Given the description of an element on the screen output the (x, y) to click on. 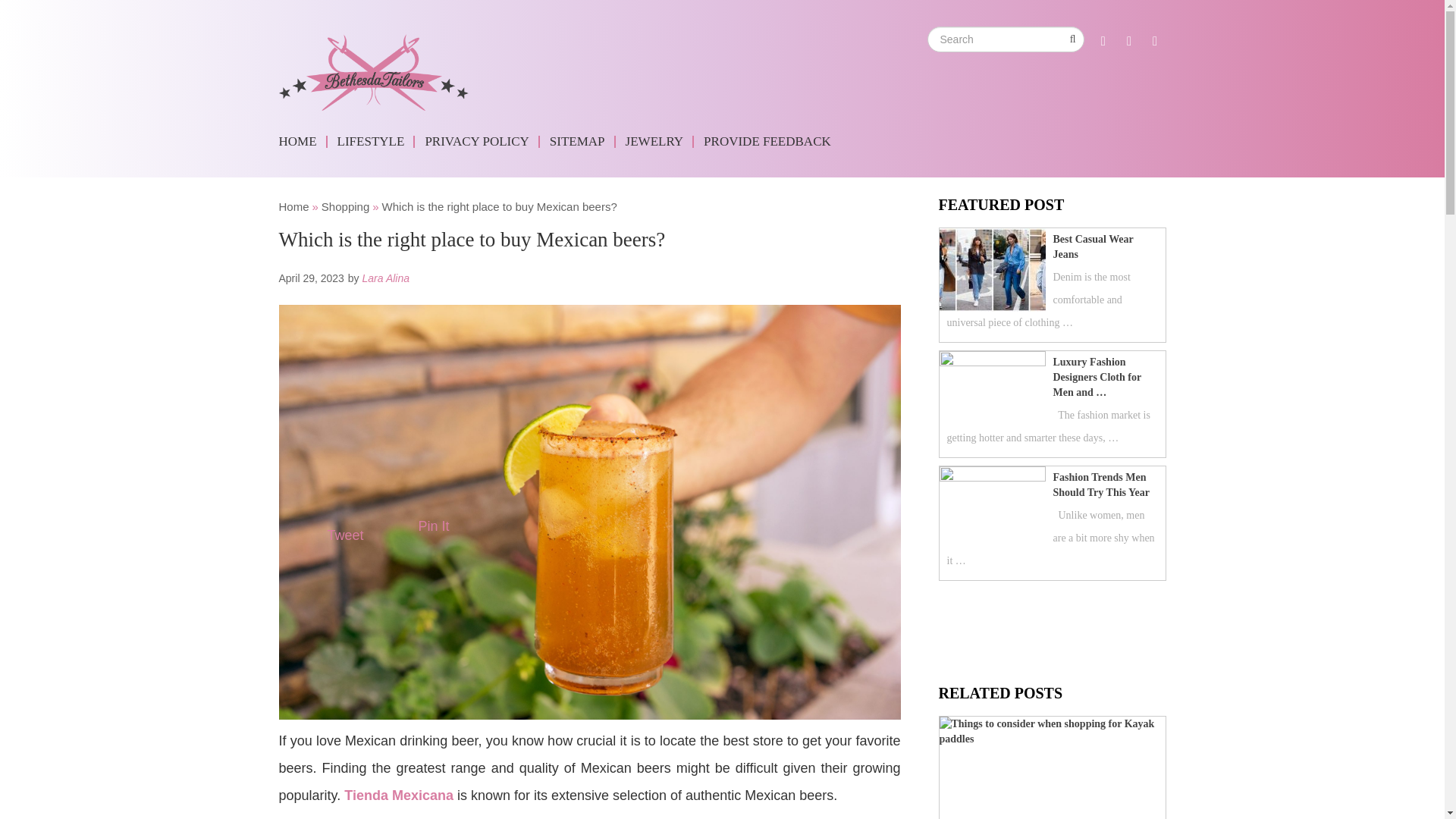
LIFESTYLE (372, 141)
Home (293, 205)
Shopping (345, 205)
Best Casual Wear Jeans (1048, 246)
HOME (303, 141)
Lara Alina (385, 277)
PRIVACY POLICY (478, 141)
Posts by Lara Alina (385, 277)
Tweet (345, 534)
SITEMAP (579, 141)
